Given the description of an element on the screen output the (x, y) to click on. 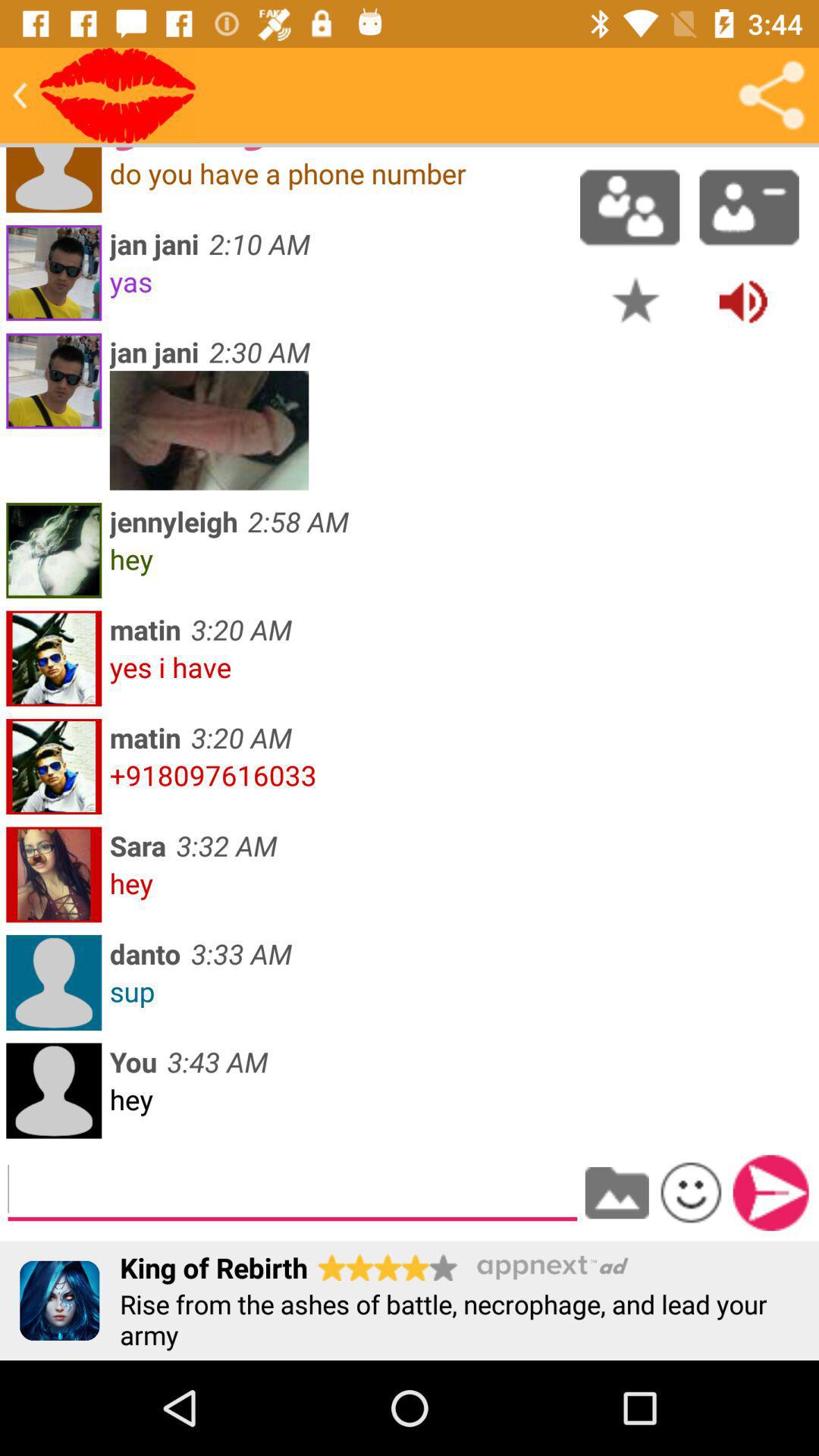
tap the app to the left of 2:09 am app (117, 95)
